Given the description of an element on the screen output the (x, y) to click on. 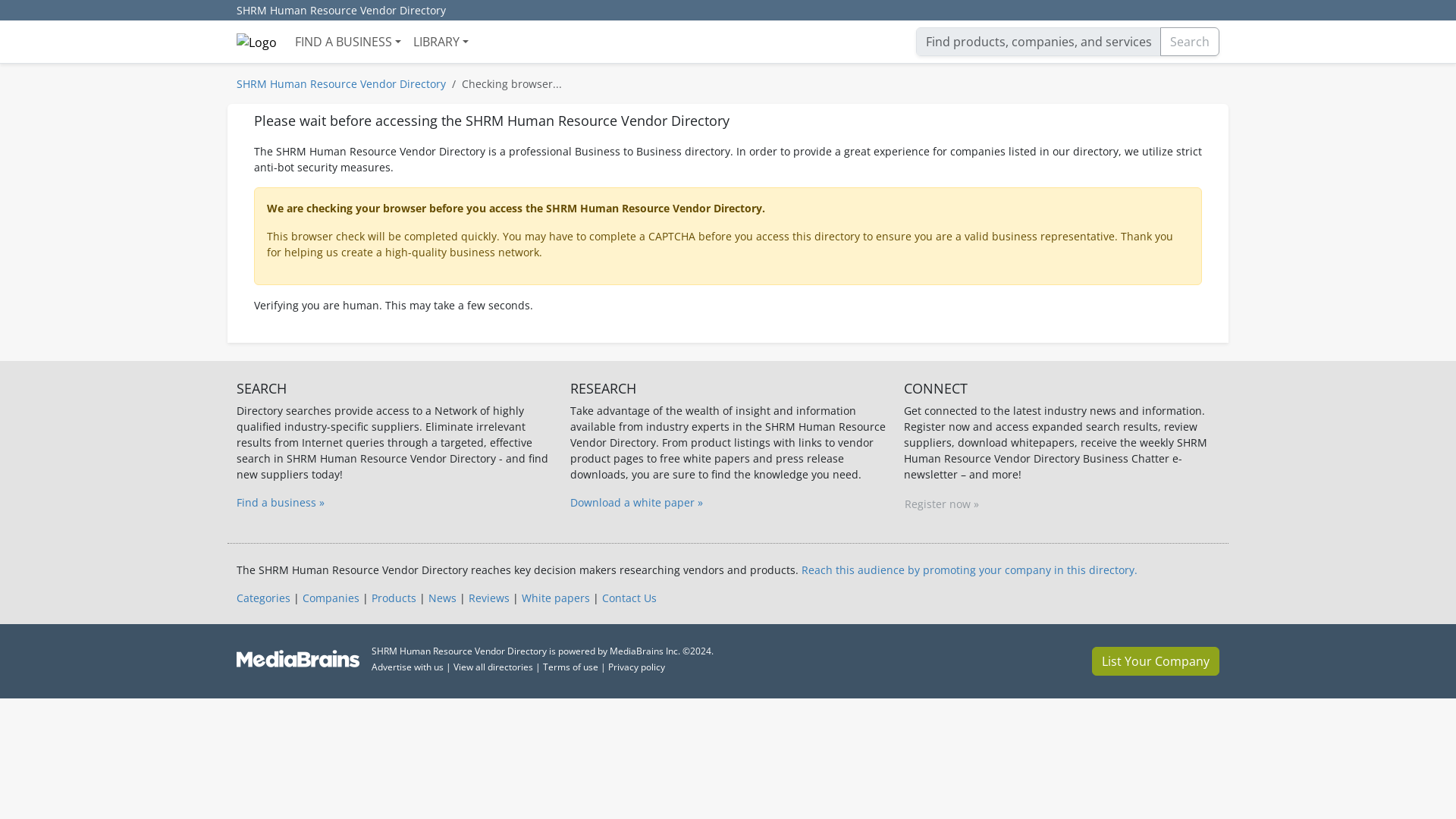
Reviews (488, 597)
FIND A BUSINESS (347, 41)
View all directories (492, 666)
Companies (330, 597)
Privacy policy (636, 666)
News (442, 597)
Search (1190, 41)
Contact Us (629, 597)
Products (393, 597)
